Given the description of an element on the screen output the (x, y) to click on. 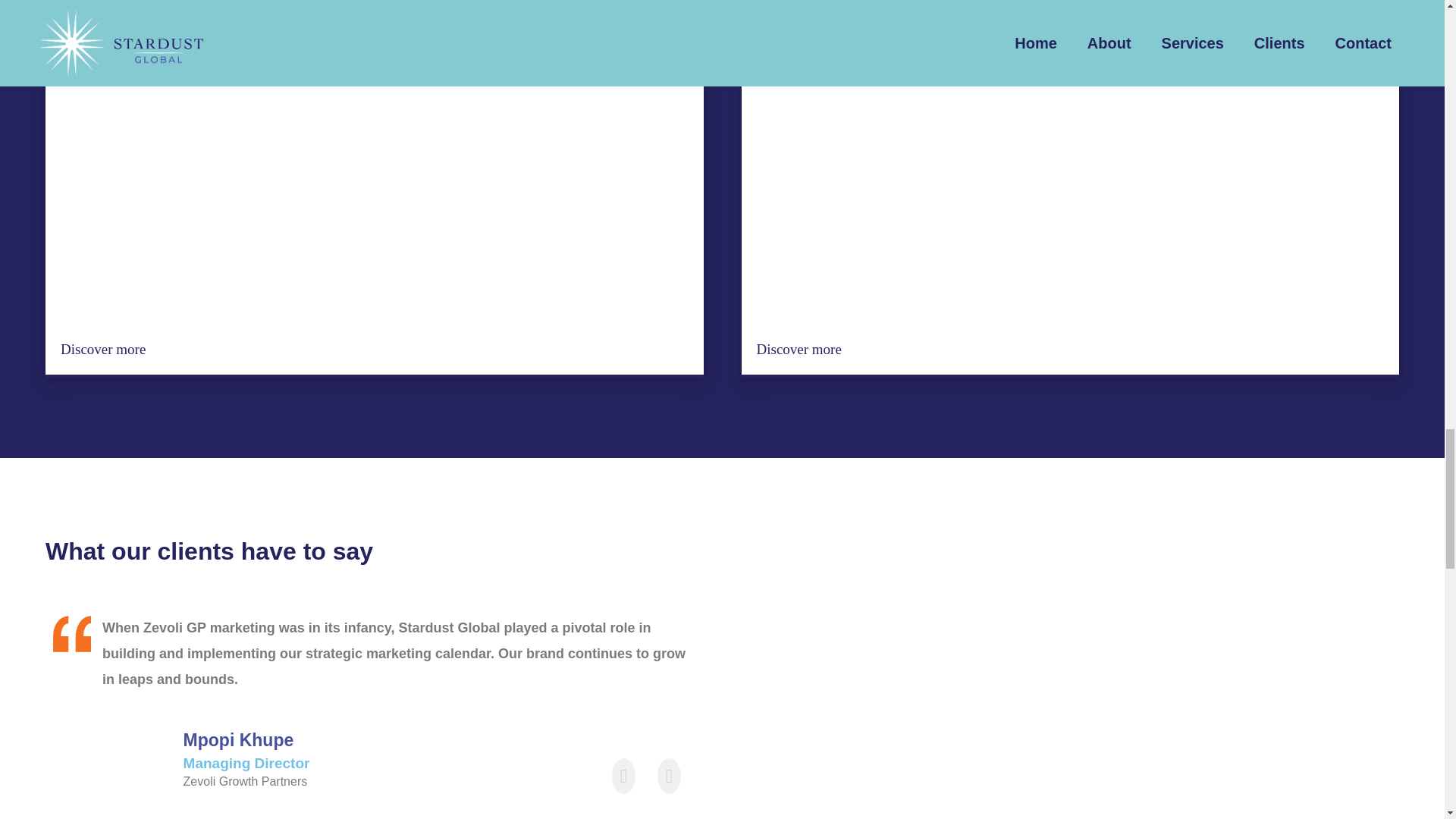
Discover more (103, 349)
Discover more (799, 349)
